Given the description of an element on the screen output the (x, y) to click on. 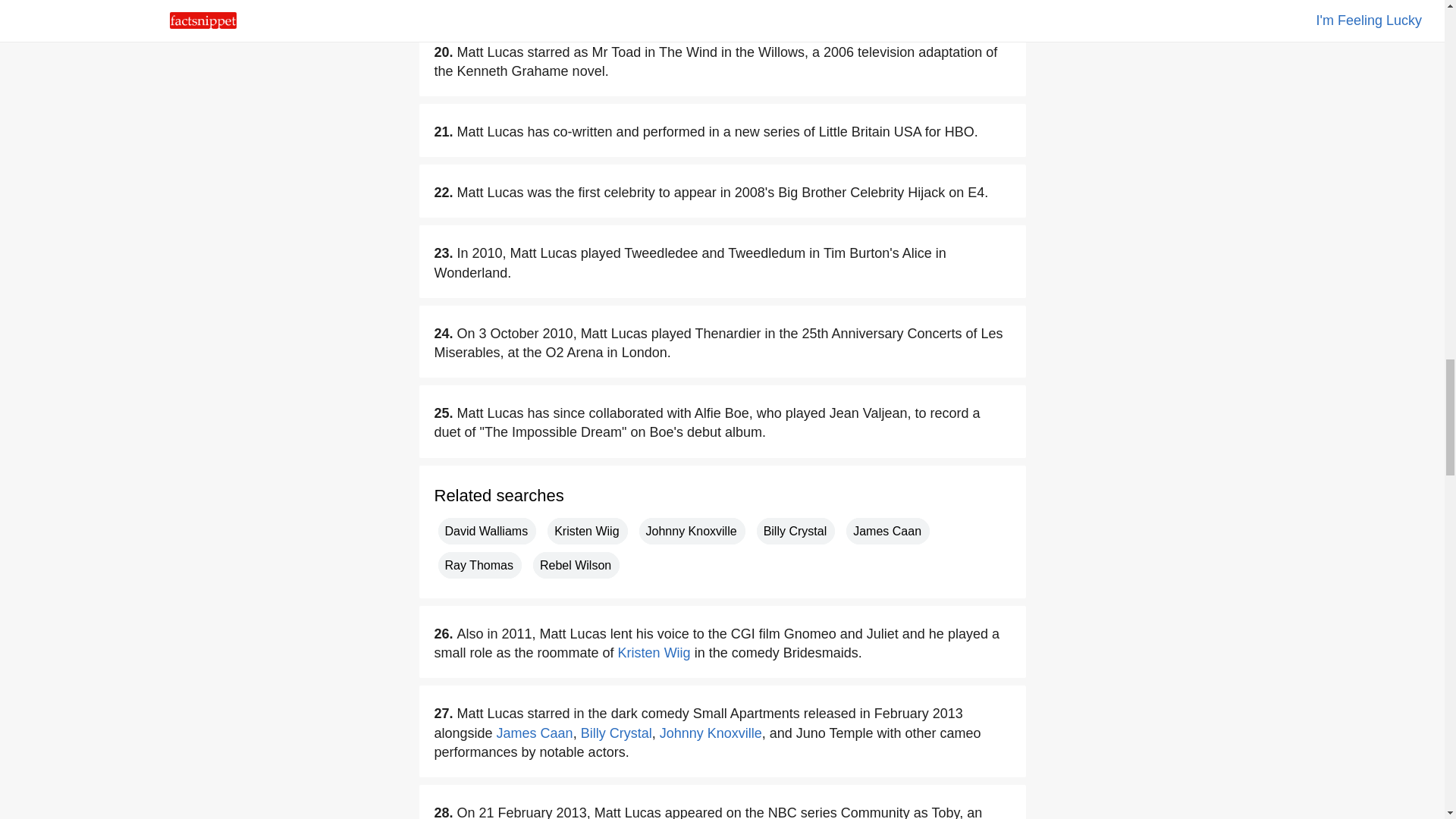
David Walliams (487, 530)
Johnny Knoxville (692, 530)
Billy Crystal (796, 530)
James Caan (887, 530)
Kristen Wiig (587, 530)
James Caan (534, 733)
Rebel Wilson (576, 565)
Ray Thomas (479, 565)
Kristen Wiig (653, 652)
Johnny Knoxville (710, 733)
